Given the description of an element on the screen output the (x, y) to click on. 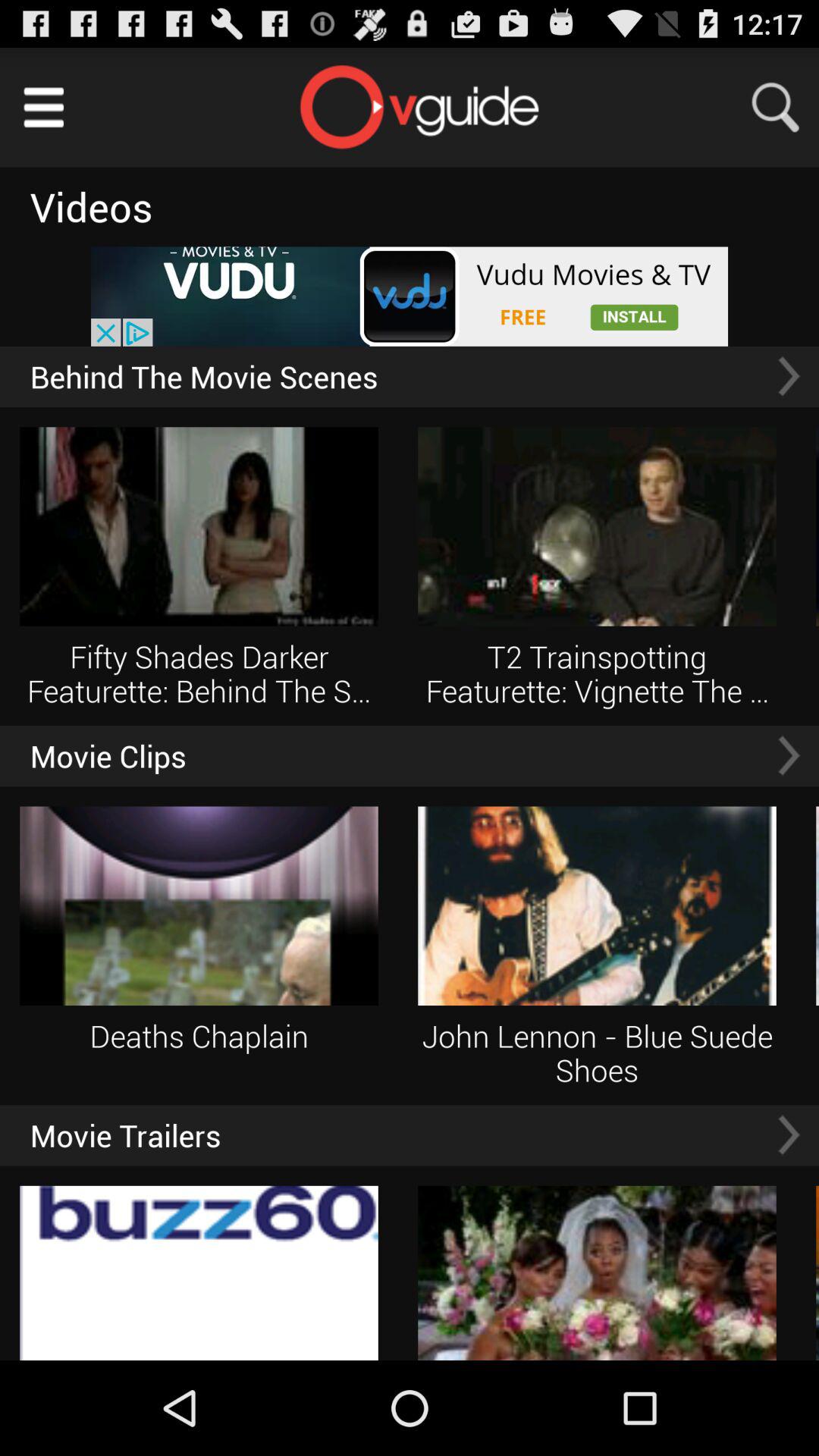
open an advertisements (409, 296)
